Given the description of an element on the screen output the (x, y) to click on. 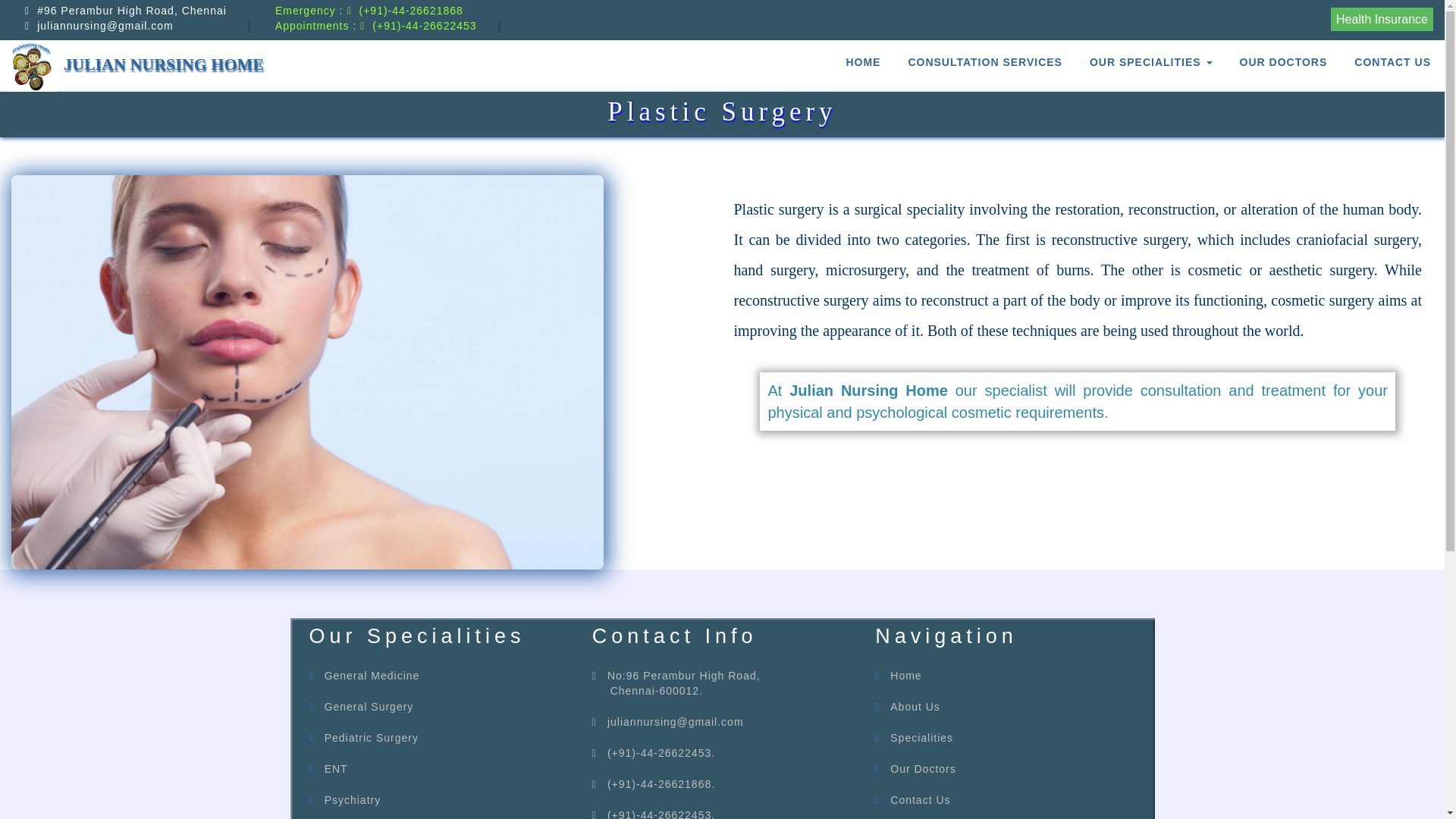
Home (905, 675)
ENT (335, 768)
HOME (862, 54)
JULIAN NURSING HOME (131, 65)
CONSULTATION SERVICES (984, 54)
About Us (914, 706)
General Surgery (368, 706)
OUR SPECIALITIES (1150, 54)
OUR DOCTORS (1282, 54)
Psychiatry (352, 799)
